Given the description of an element on the screen output the (x, y) to click on. 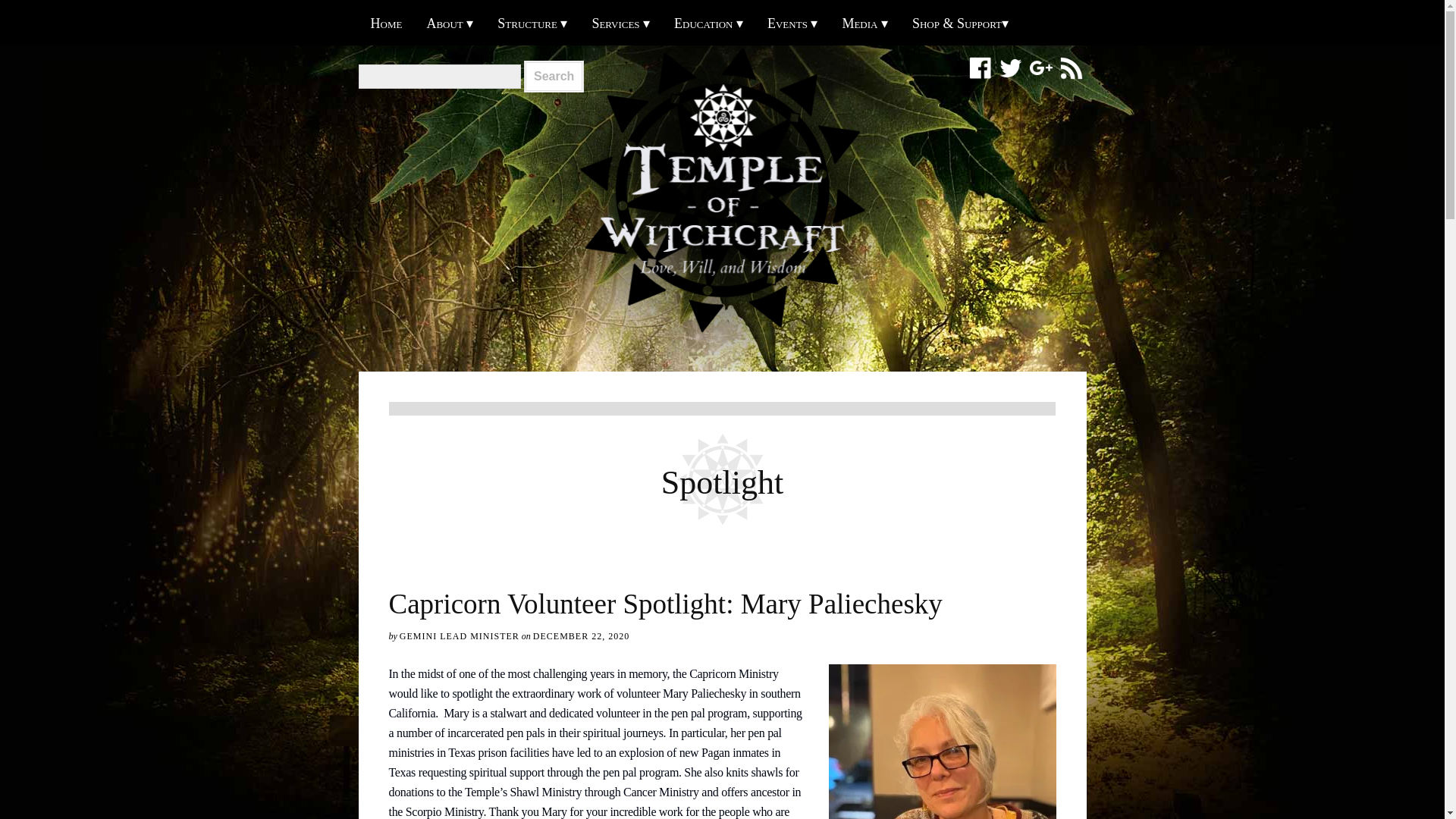
Temple Mystery School (708, 22)
Home (385, 22)
Search (553, 76)
